Given the description of an element on the screen output the (x, y) to click on. 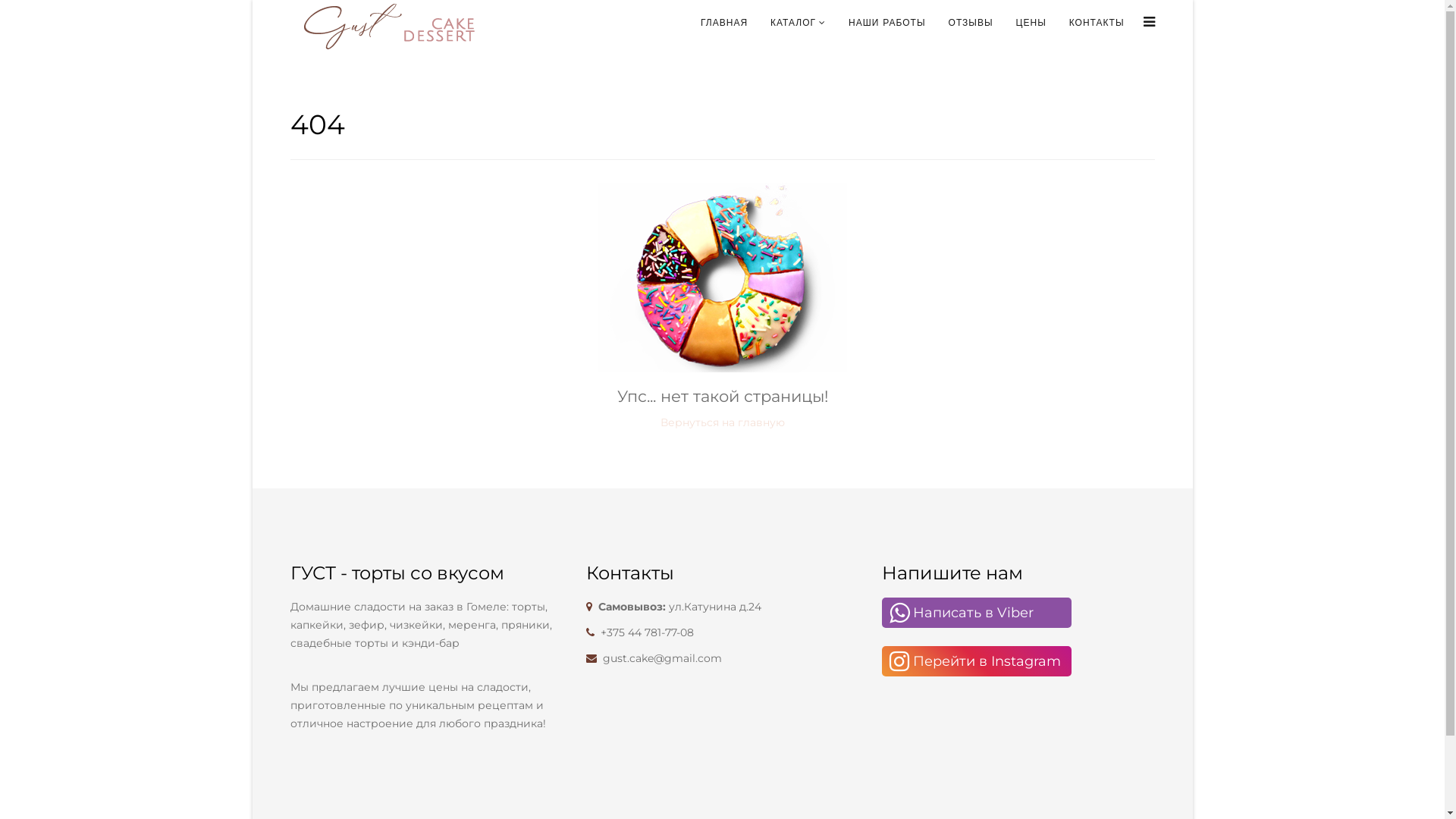
+375 44 781-77-08 Element type: text (646, 632)
gust.cake@gmail.com Element type: text (661, 658)
